Given the description of an element on the screen output the (x, y) to click on. 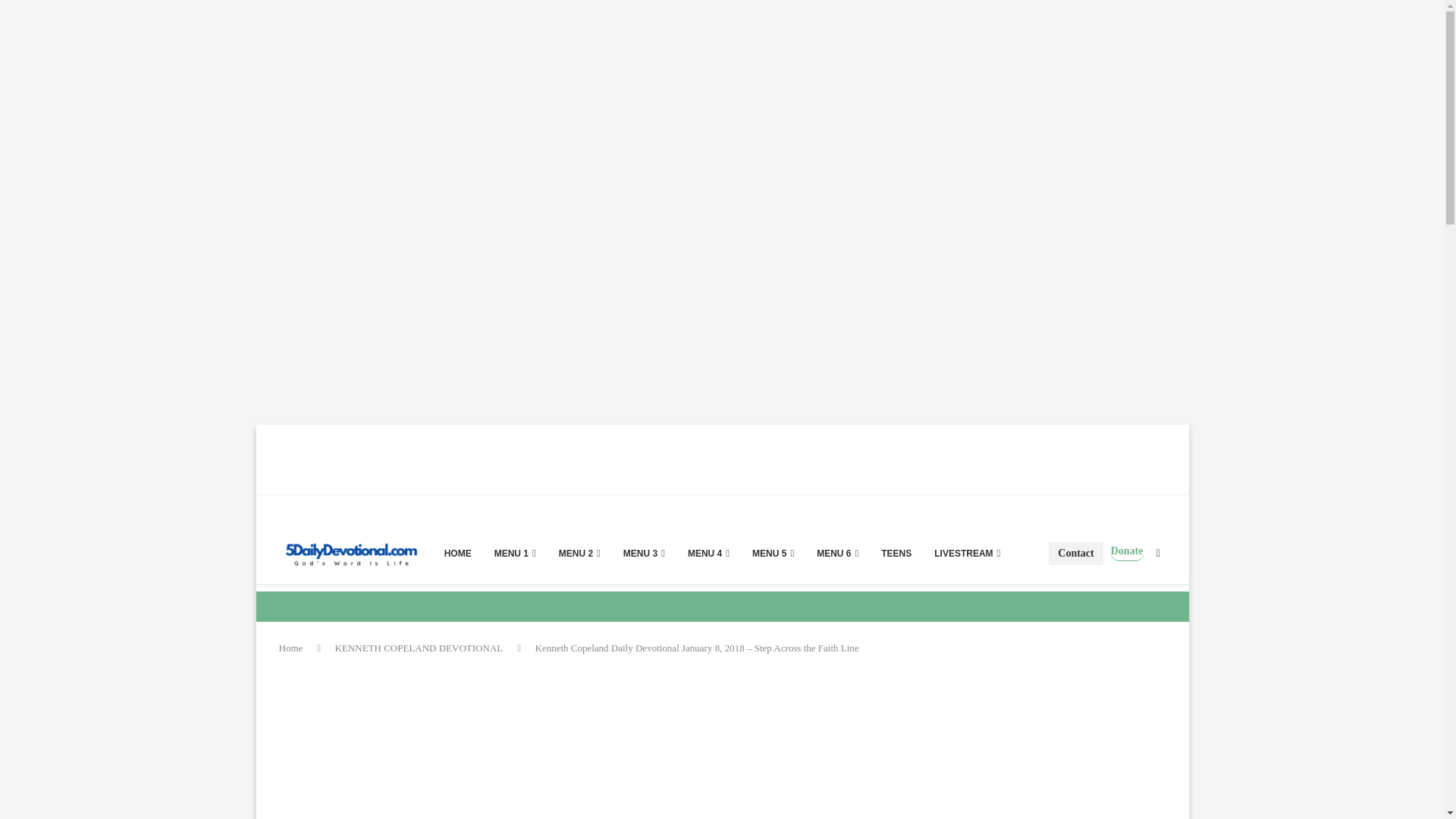
Advertisement (562, 748)
Advertisement (532, 459)
